Given the description of an element on the screen output the (x, y) to click on. 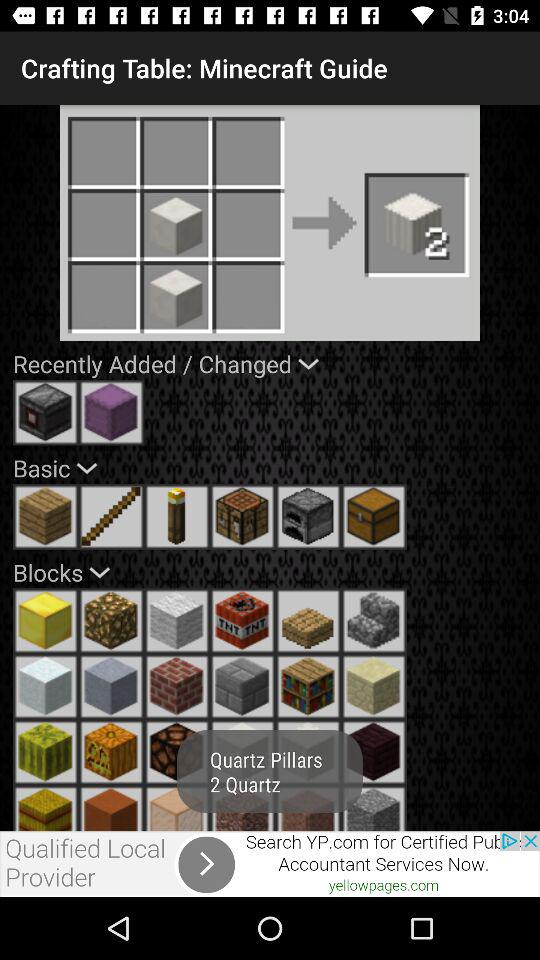
hexon (373, 752)
